Given the description of an element on the screen output the (x, y) to click on. 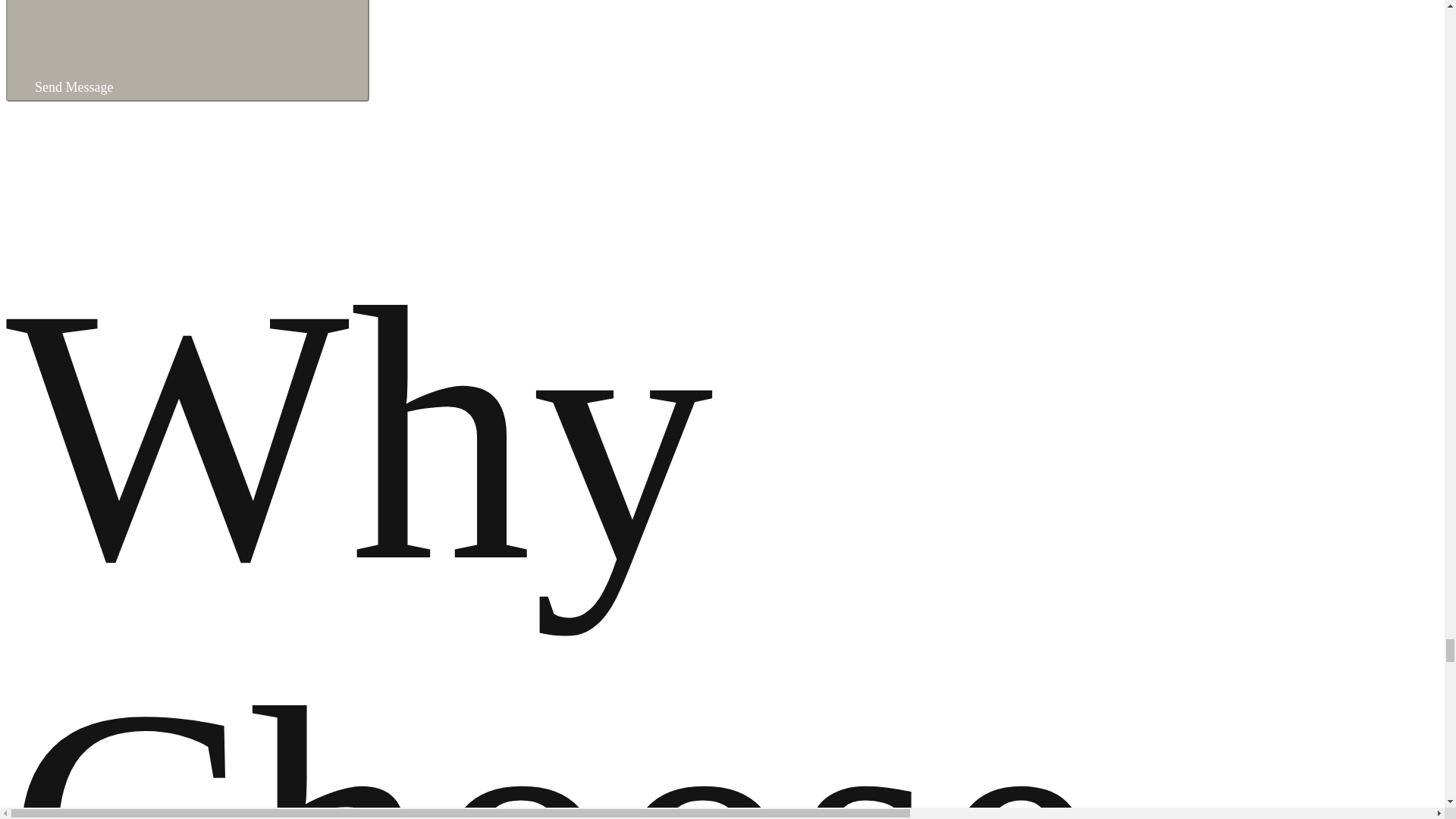
Send Message (187, 50)
